Given the description of an element on the screen output the (x, y) to click on. 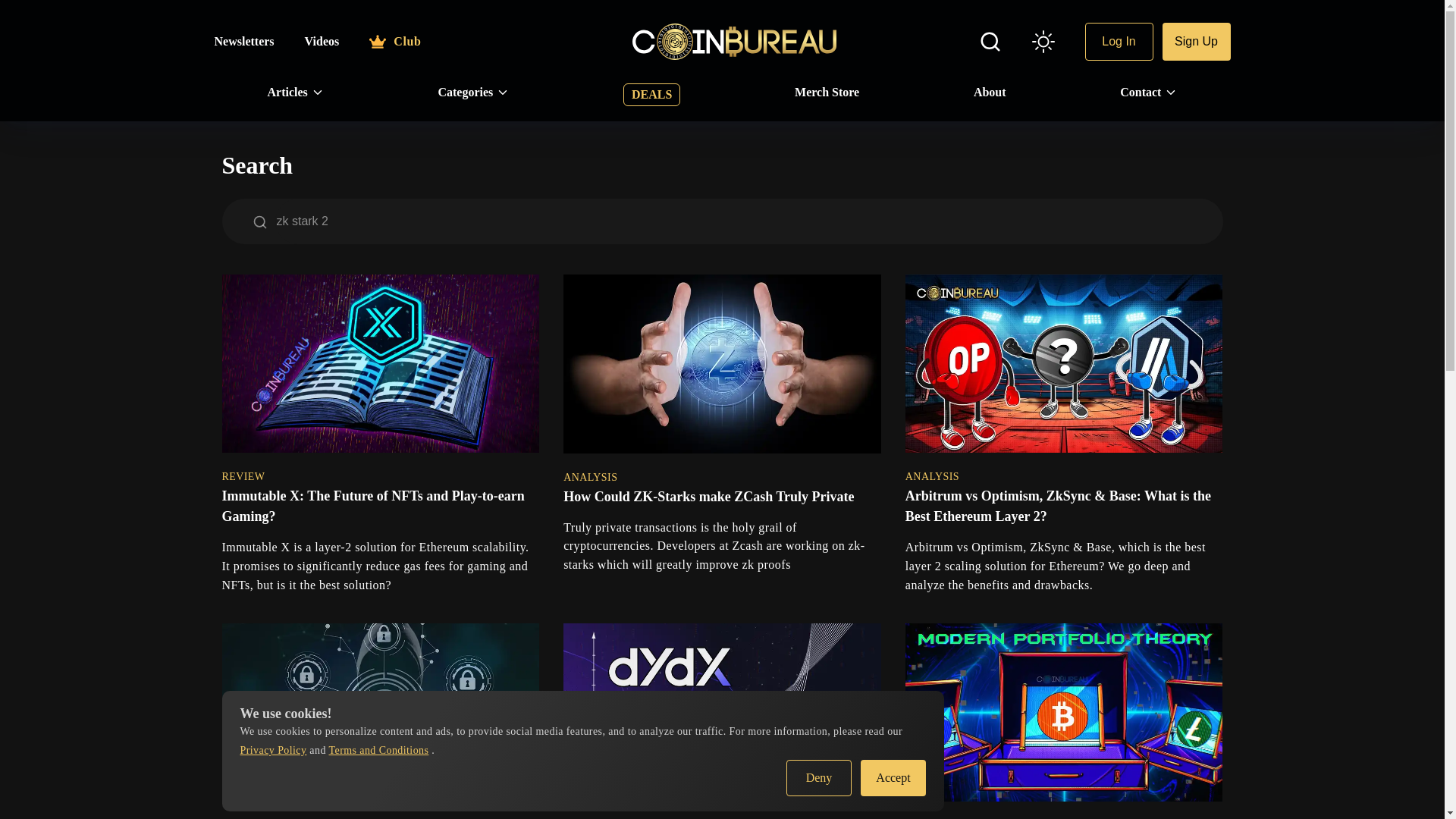
About (990, 92)
Log In (1118, 41)
Sign Up (1195, 41)
Videos (322, 41)
Club (394, 41)
zk stark 2 (749, 221)
Merch Store (826, 92)
Log In (1118, 41)
DEALS (651, 94)
Sign Up (1195, 41)
Newsletters (243, 41)
